Given the description of an element on the screen output the (x, y) to click on. 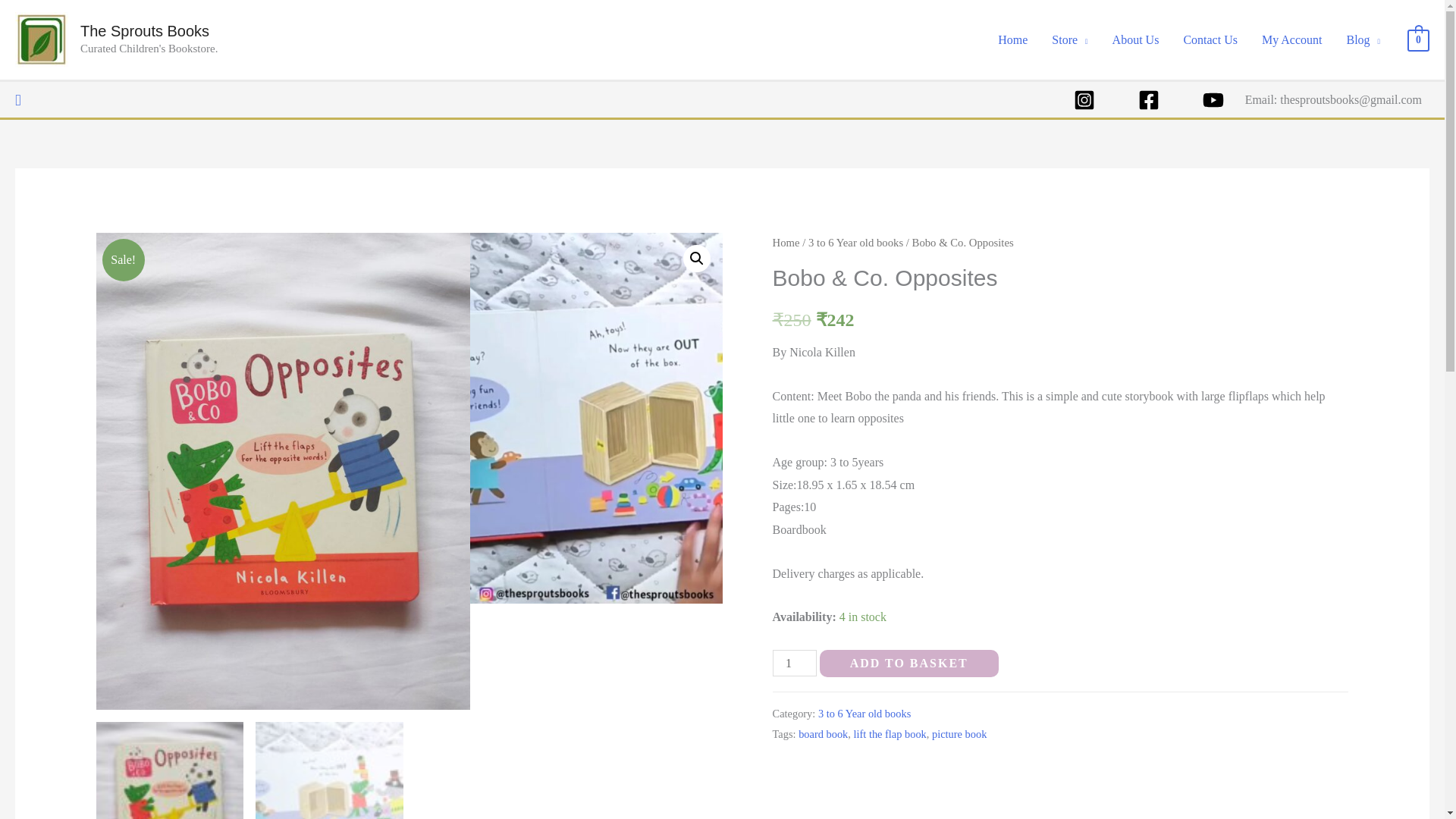
Qty (794, 663)
My Account (1292, 39)
View your shopping basket (1418, 39)
Contact Us (1209, 39)
Store (1069, 39)
Home (1012, 39)
Blog (1362, 39)
About Us (1136, 39)
The Sprouts Books (144, 30)
0 (1418, 39)
1 (794, 663)
